Given the description of an element on the screen output the (x, y) to click on. 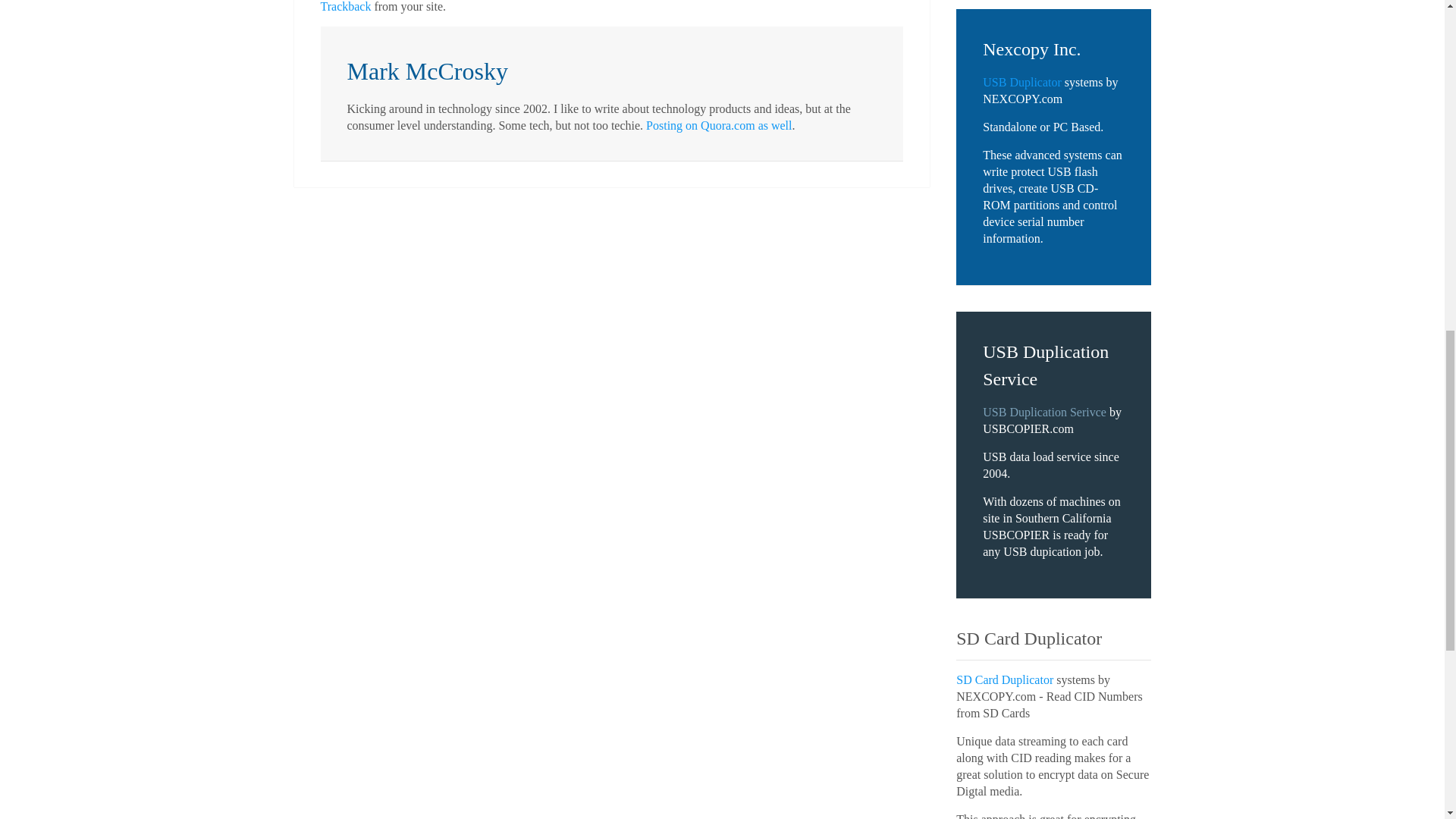
SD Card Duplicator (1004, 679)
USB Duplication Serivce (1044, 411)
SD Card Duplicator (1004, 679)
Posting on Quora.com as well (719, 124)
USB Duplicator (1021, 82)
USB Duplication Service (1044, 411)
Trackback (345, 6)
USB Duplicator (1021, 82)
